Given the description of an element on the screen output the (x, y) to click on. 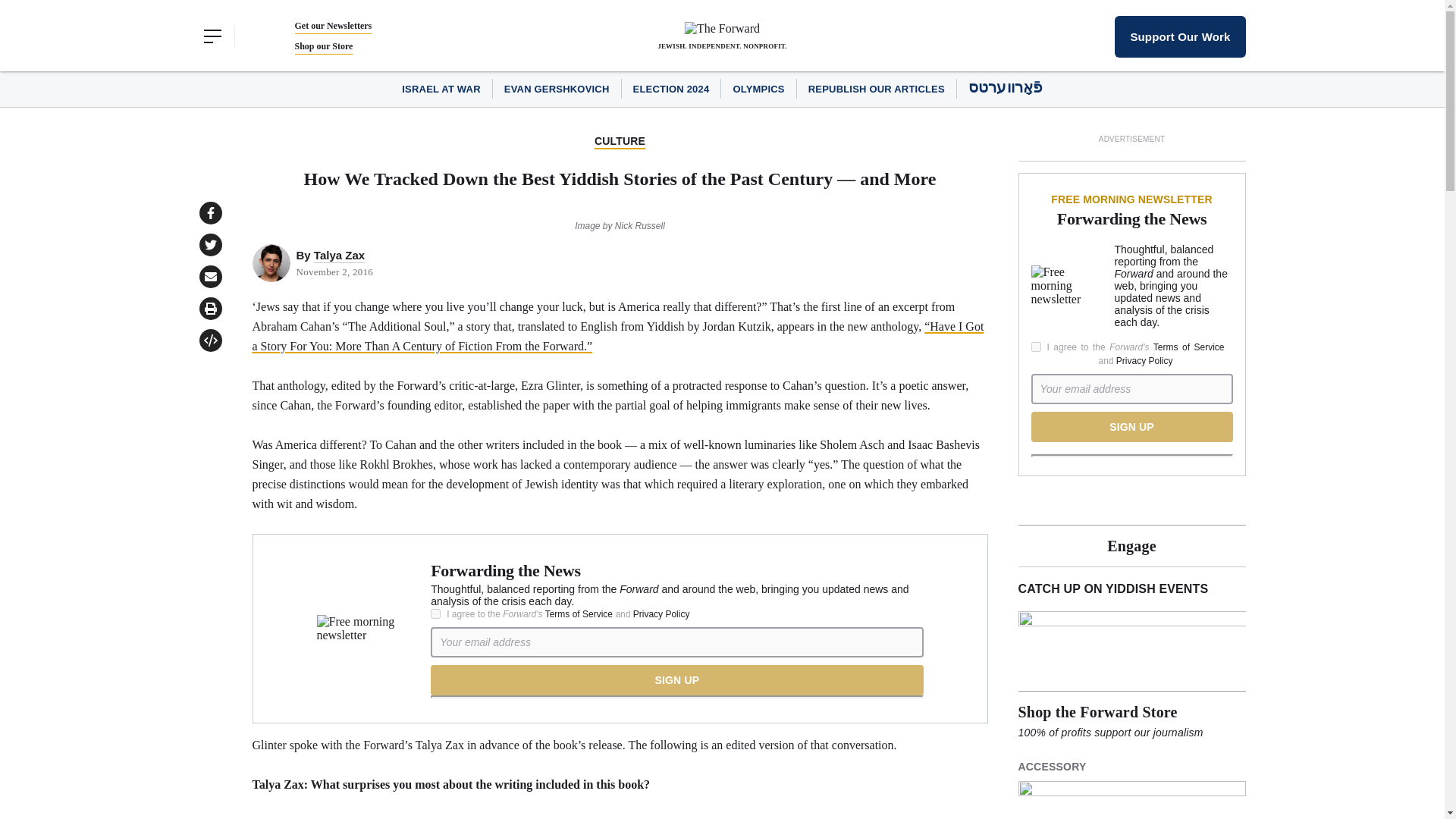
Click to open publish popup (209, 340)
Shop our Store (323, 46)
Sign Up (676, 680)
Support Our Work (1179, 35)
Yes (435, 614)
Get our Newsletters (332, 26)
Sign Up (1131, 426)
Yes (1035, 347)
